Given the description of an element on the screen output the (x, y) to click on. 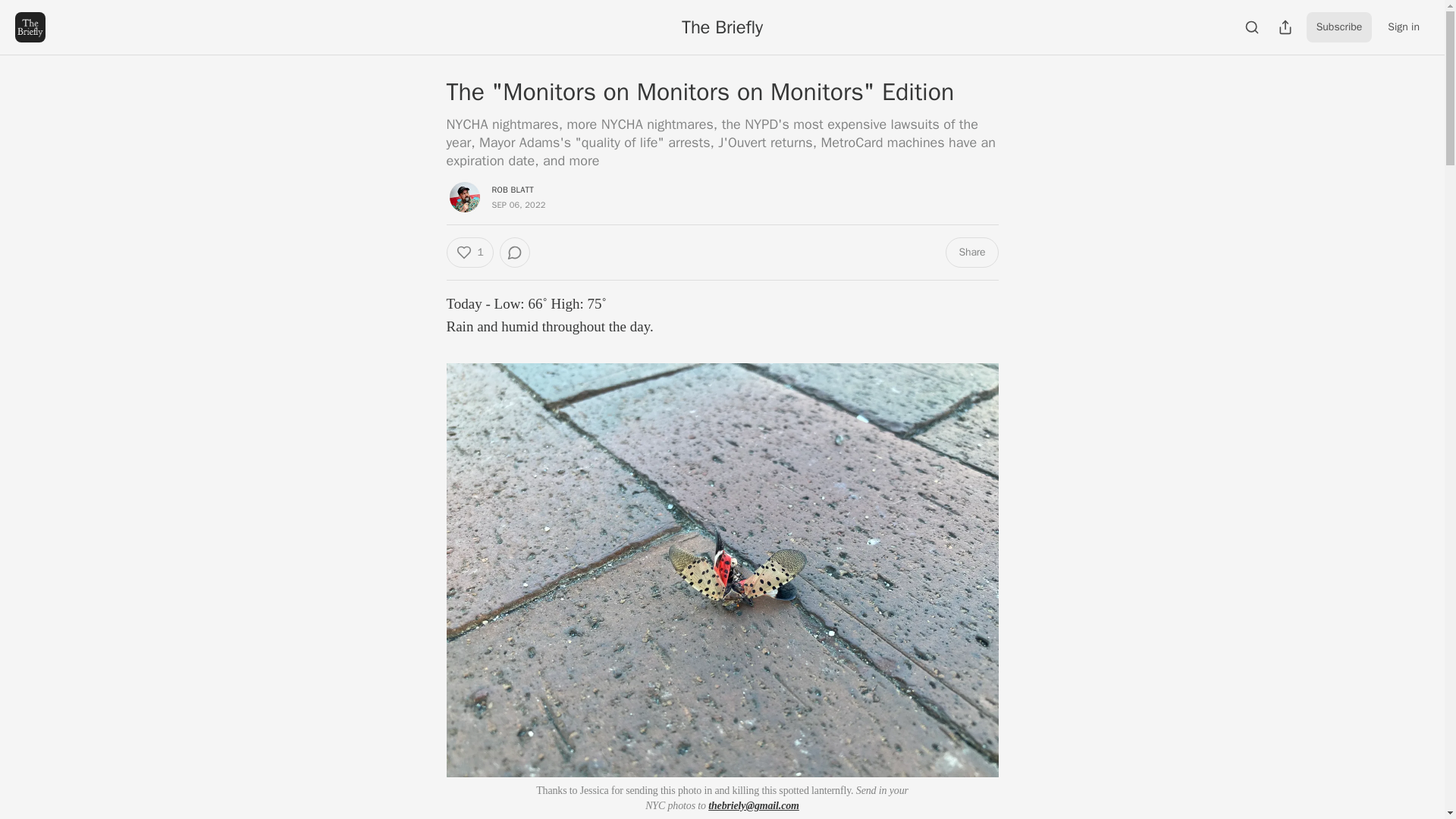
1 (469, 252)
ROB BLATT (512, 189)
Share (970, 252)
Sign in (1403, 27)
Subscribe (1339, 27)
The Briefly (721, 26)
